Given the description of an element on the screen output the (x, y) to click on. 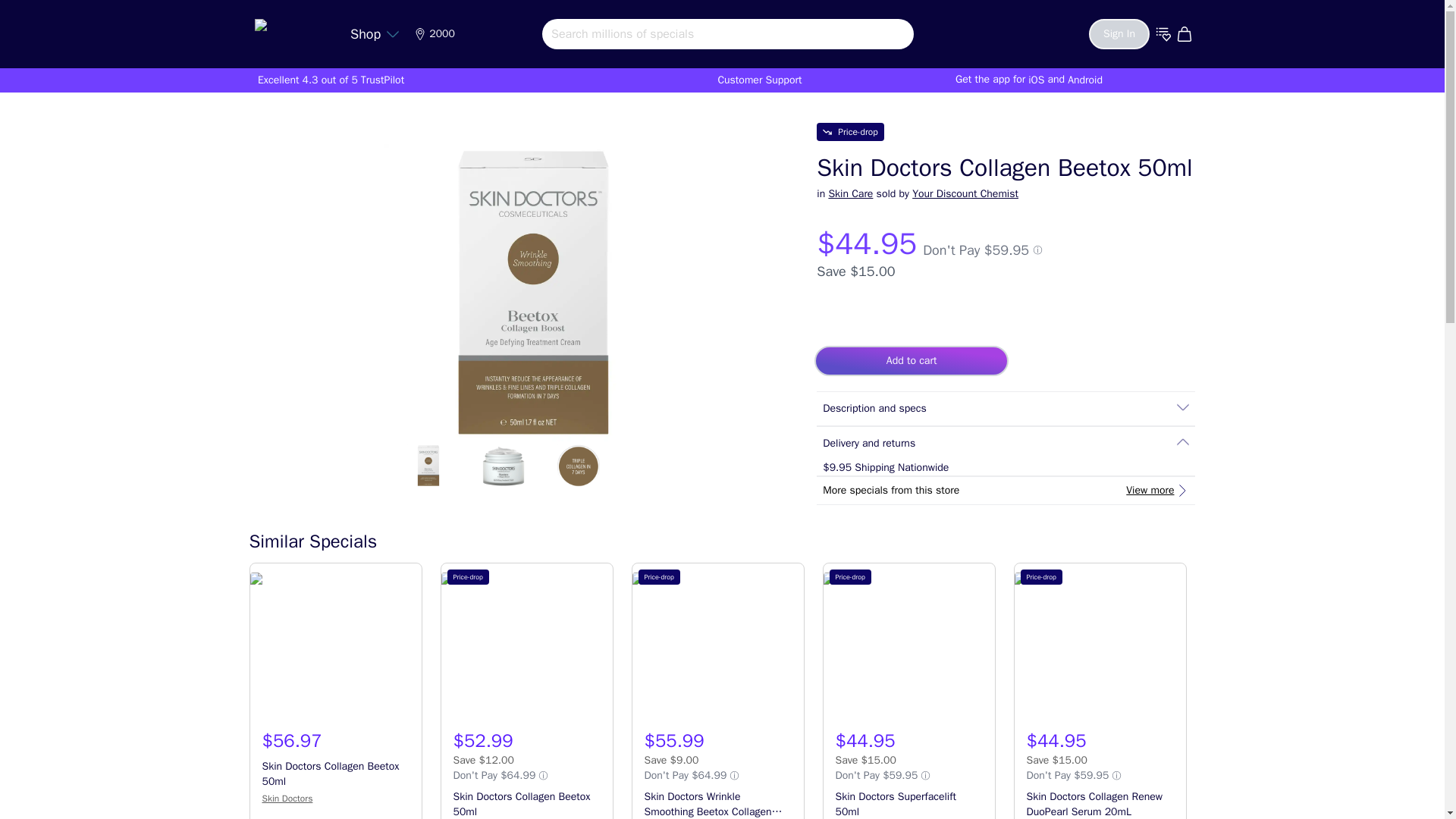
Skin Doctors Superfacelift 50ml (909, 651)
Skin Doctors Collagen Beetox 50ml (336, 651)
Skin Doctors Collagen Beetox 50ml (526, 651)
lasoo (291, 30)
Skin Doctors Wrinkle Smoothing Beetox Collagen Boost 50mL (717, 651)
Go to cart (1185, 33)
Shop (374, 33)
Go to wishlist (1163, 33)
Skin Doctors Collagen Renew DuoPearl Serum 20mL (1100, 651)
